Given the description of an element on the screen output the (x, y) to click on. 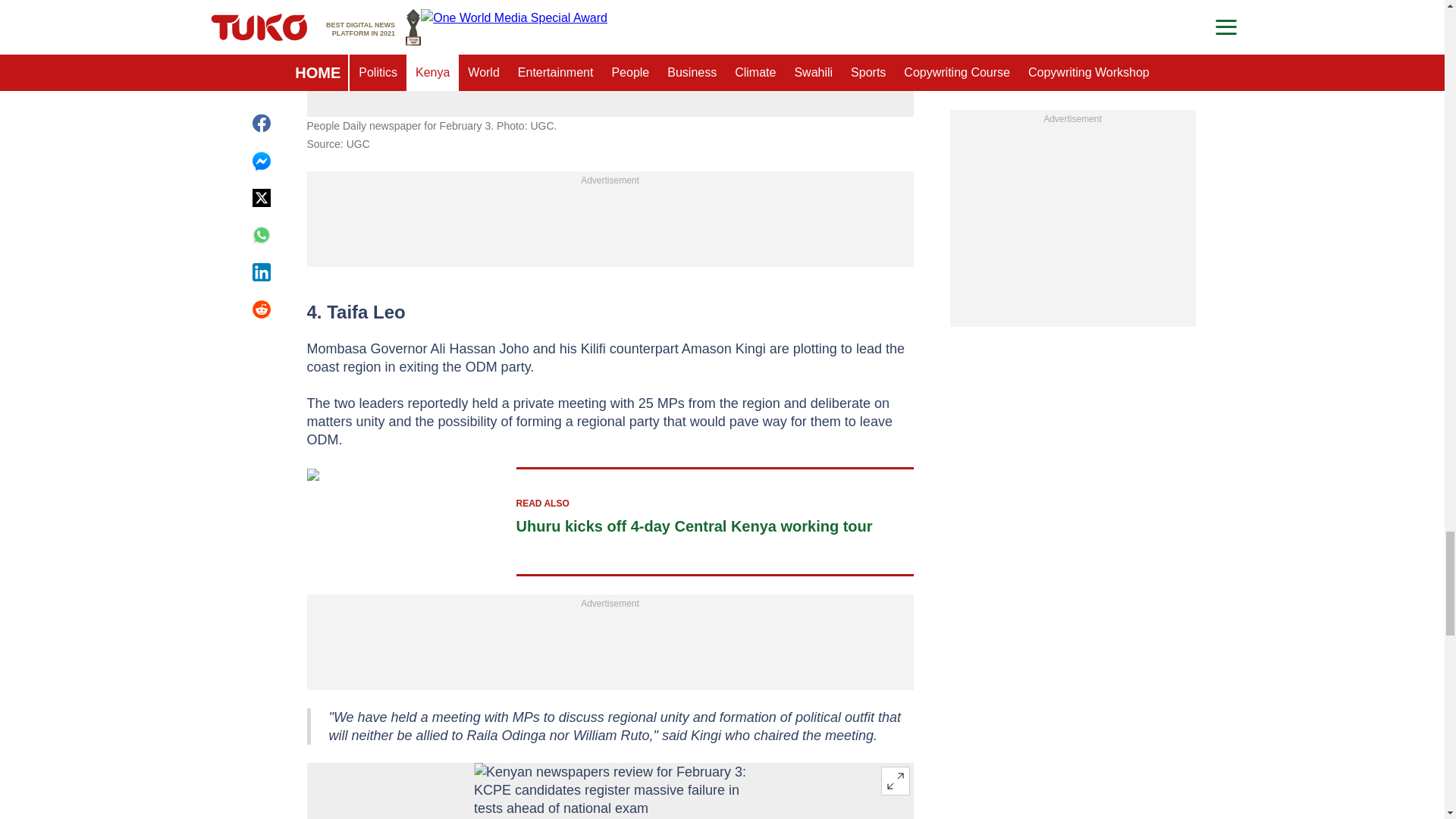
Expand image (895, 780)
